Given the description of an element on the screen output the (x, y) to click on. 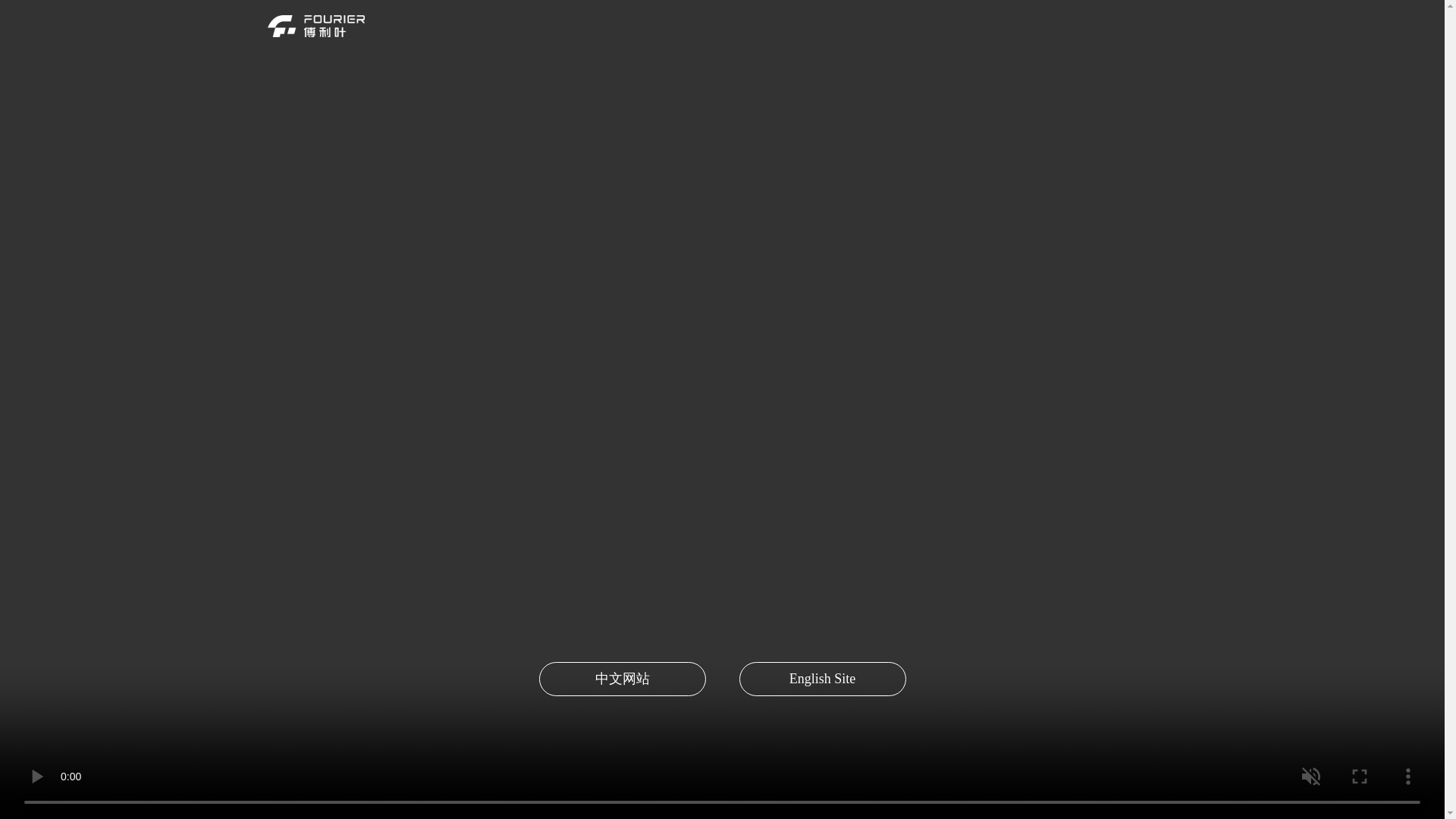
English Site (821, 678)
